Given the description of an element on the screen output the (x, y) to click on. 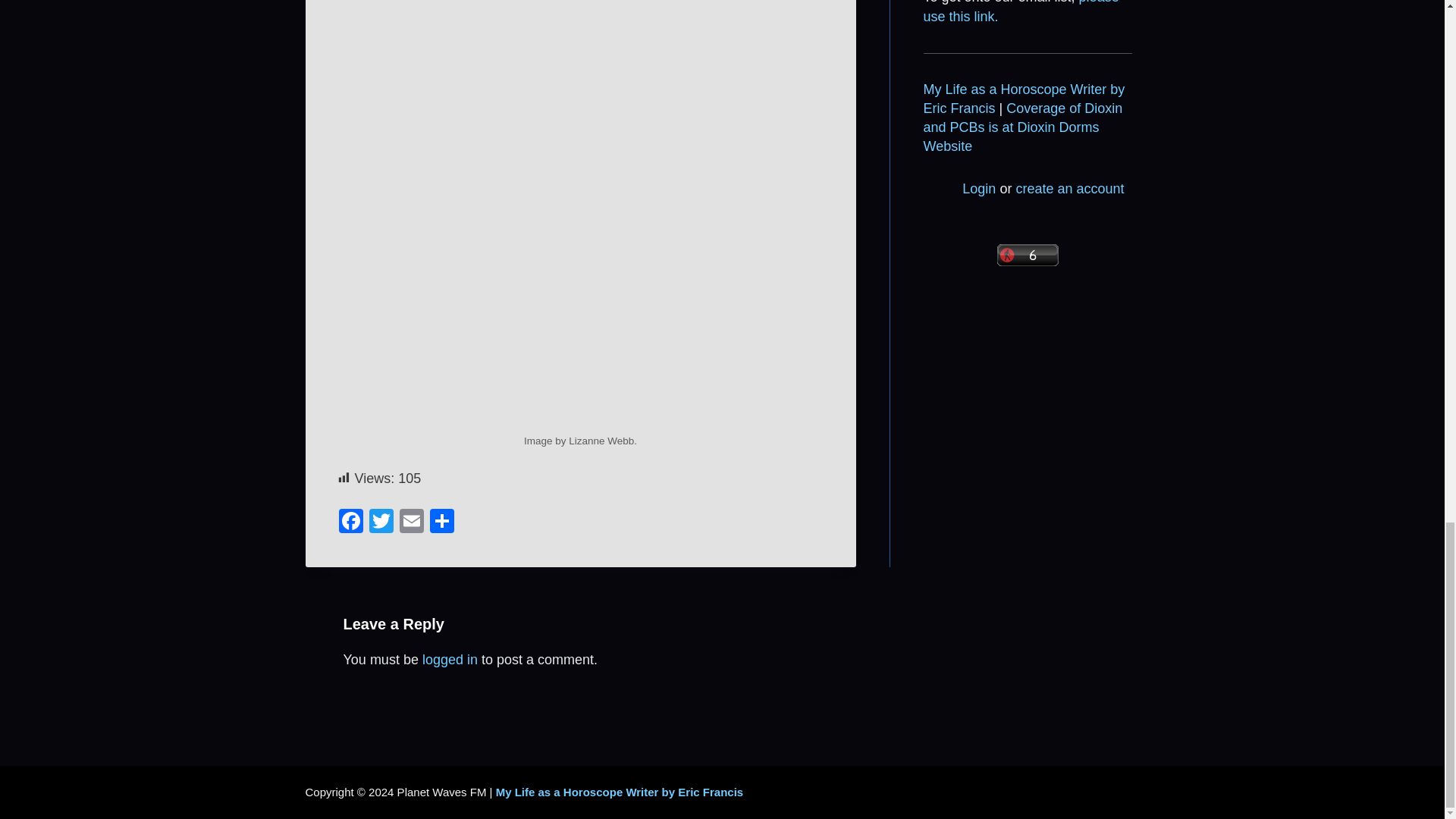
Twitter (380, 522)
Email (411, 522)
Facebook (349, 522)
Stats by whos.amung.us (1026, 255)
